Given the description of an element on the screen output the (x, y) to click on. 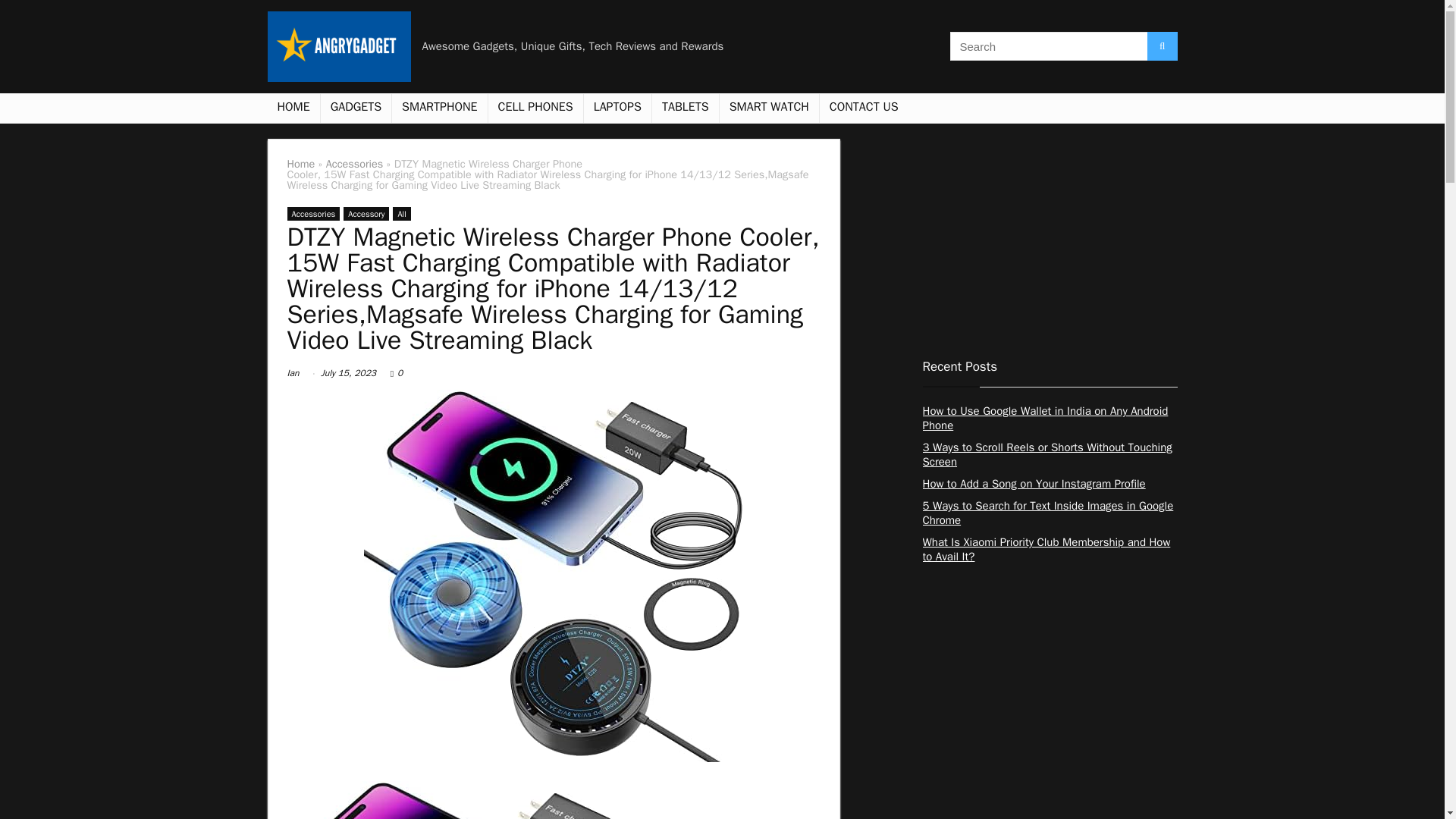
Home (300, 163)
View all posts in Accessories (312, 213)
How to Add a Song on Your Instagram Profile (1032, 483)
3 Ways to Scroll Reels or Shorts Without Touching Screen (1046, 454)
SMARTPHONE (438, 108)
CELL PHONES (535, 108)
How to Use Google Wallet in India on Any Android Phone (1044, 418)
Accessory (365, 213)
CONTACT US (863, 108)
GADGETS (355, 108)
